Given the description of an element on the screen output the (x, y) to click on. 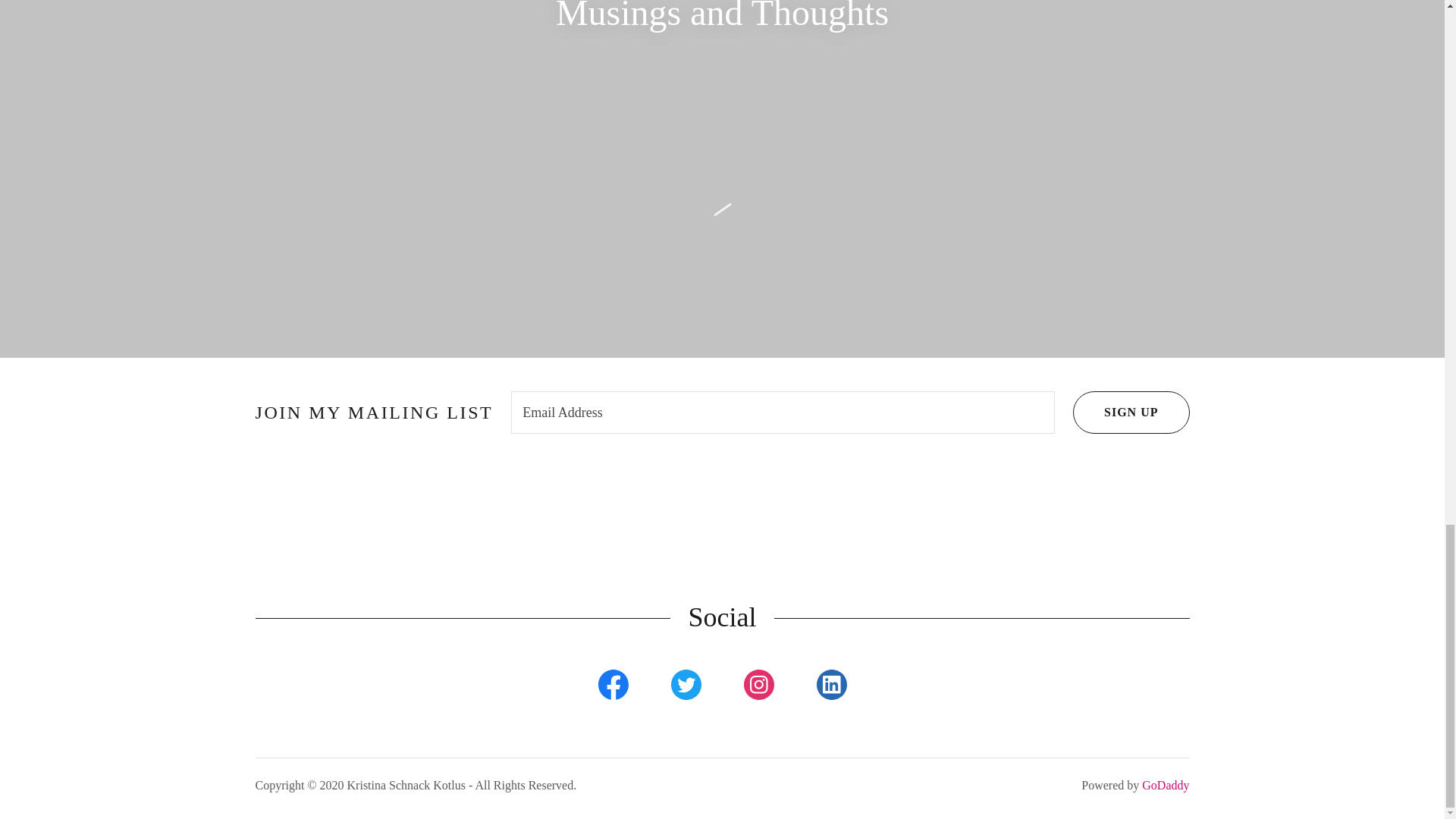
SIGN UP (1131, 412)
GoDaddy (1165, 784)
